Given the description of an element on the screen output the (x, y) to click on. 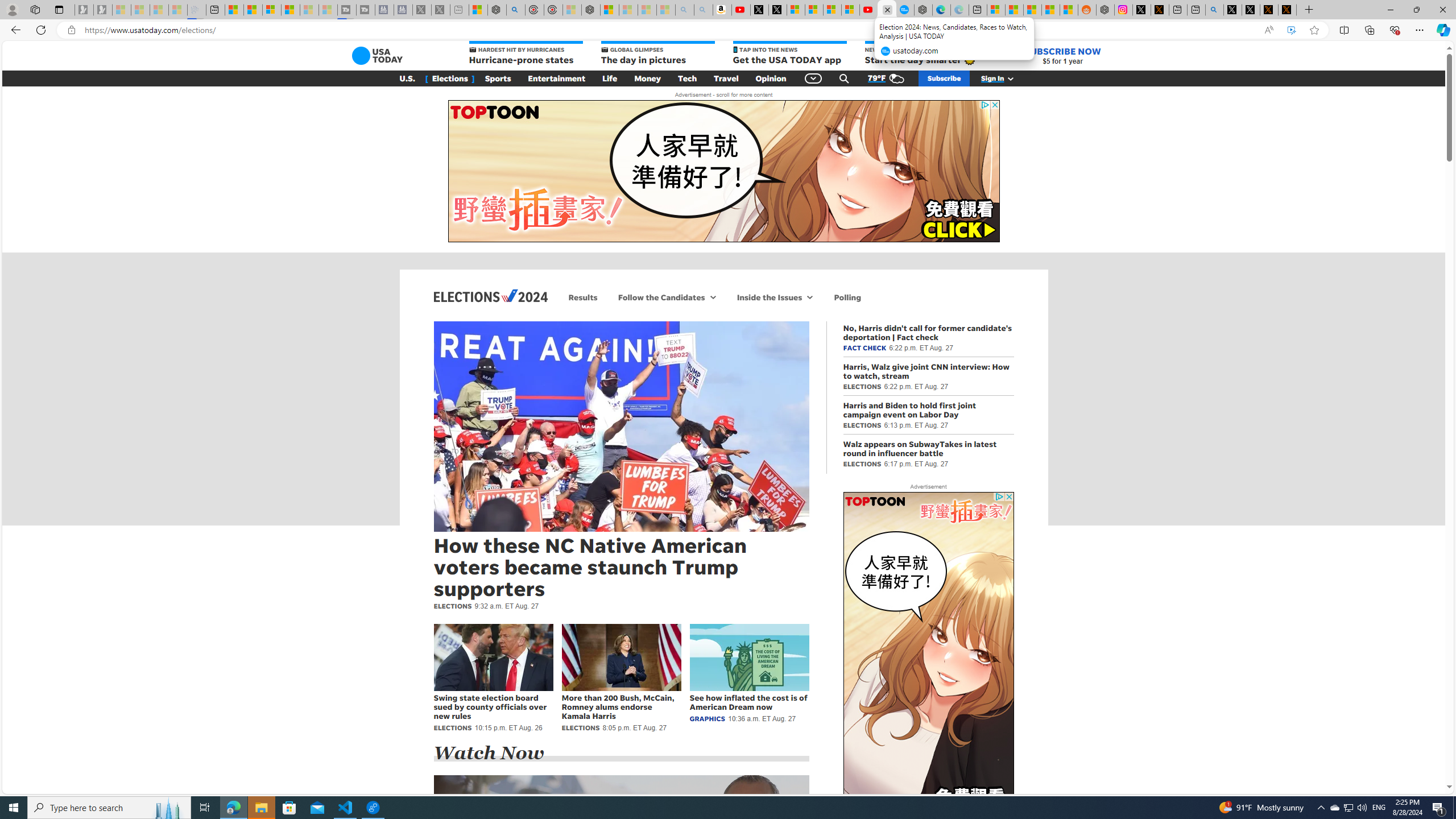
Class: gnt_n_se_a_svg (844, 78)
Amazon Echo Dot PNG - Search Images - Sleeping (702, 9)
Inside the Issues (768, 296)
Streaming Coverage | T3 - Sleeping (347, 9)
Class: gnt_sn_a_svg gnt_sn_a__db_svg (809, 296)
